Given the description of an element on the screen output the (x, y) to click on. 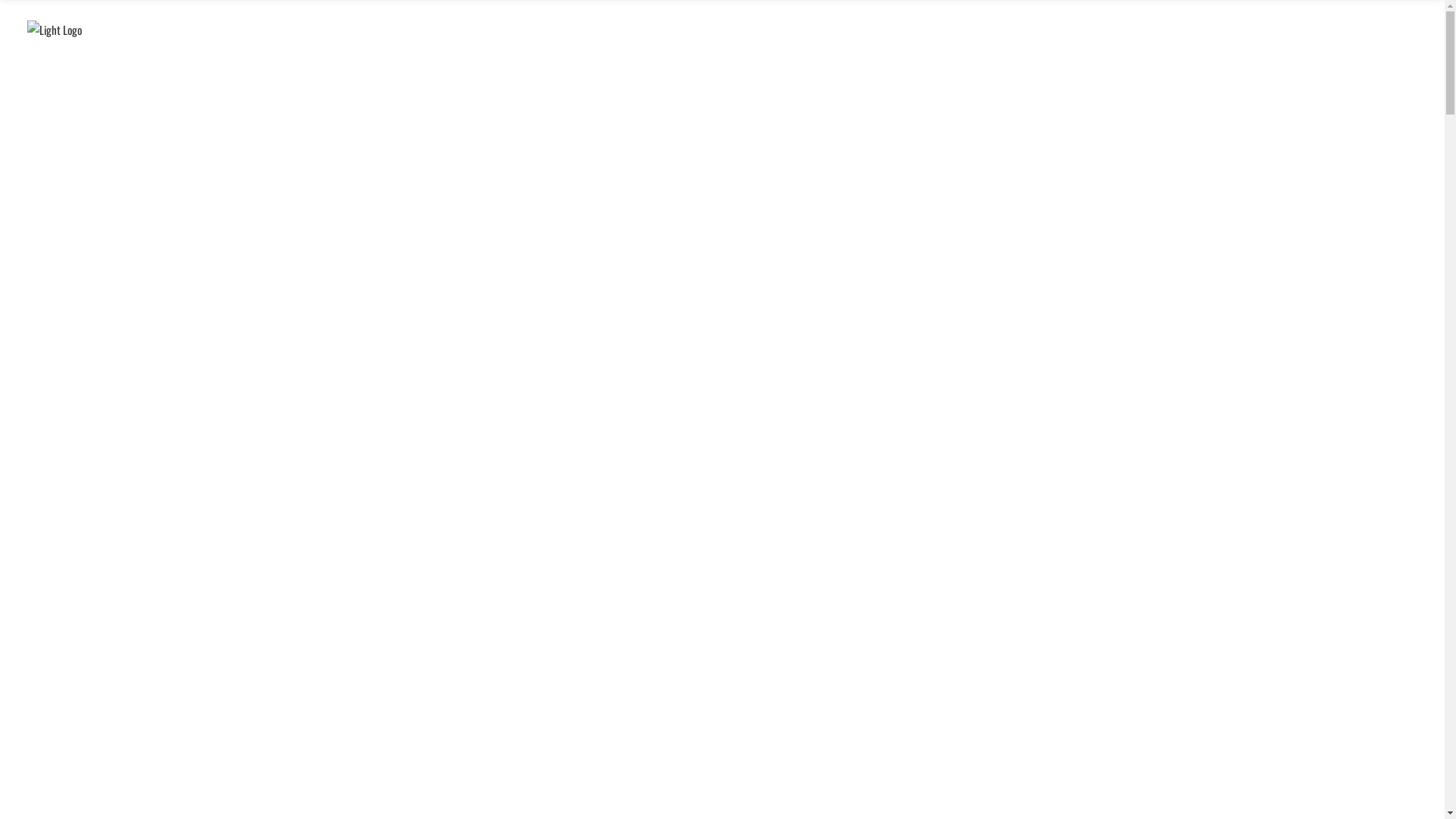
ESPACIOS Element type: text (809, 49)
CARTA Element type: text (744, 49)
